Given the description of an element on the screen output the (x, y) to click on. 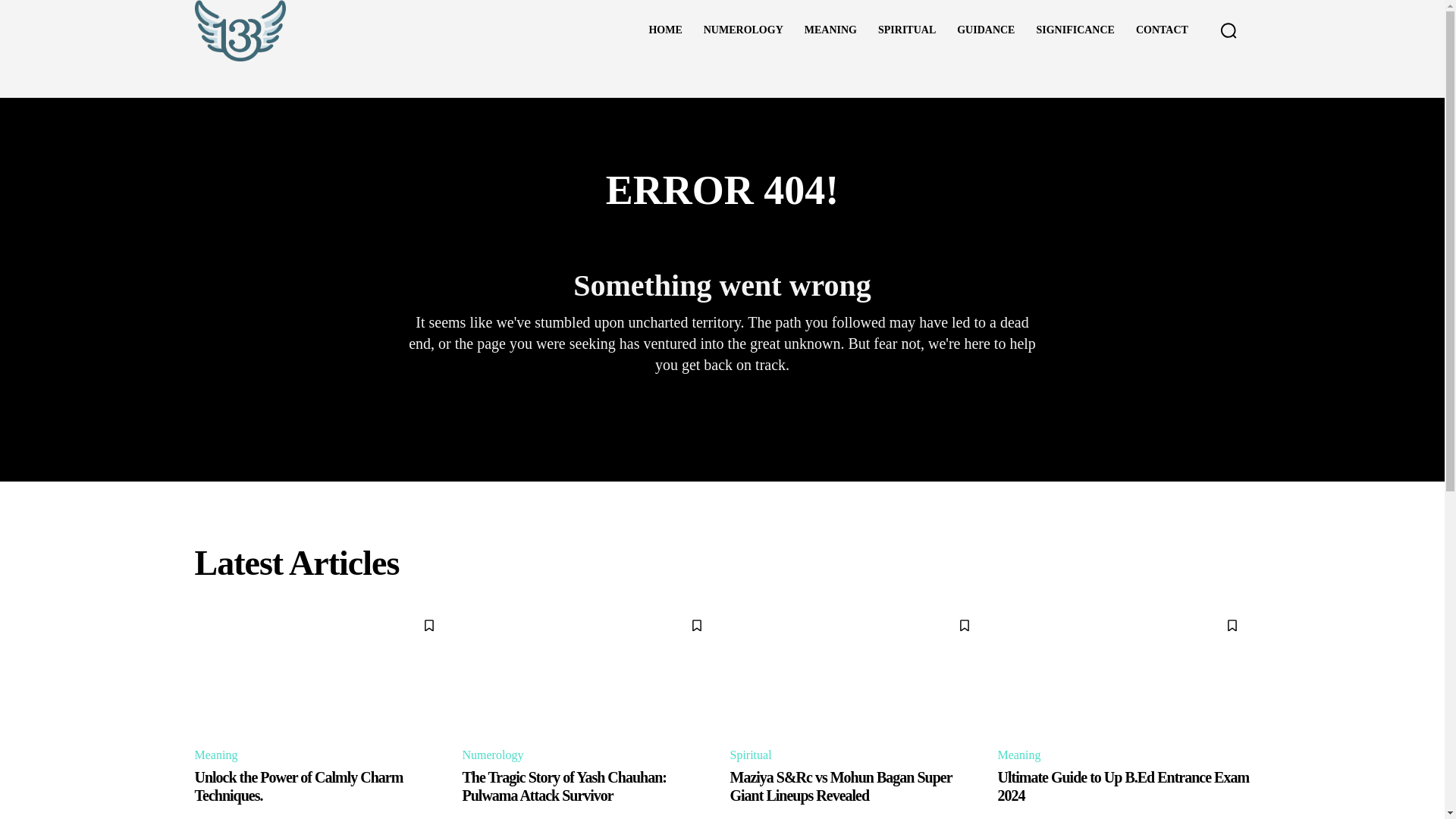
The Tragic Story of Yash Chauhan: Pulwama Attack Survivor (564, 786)
HOME (665, 30)
Meaning (1021, 755)
SPIRITUAL (906, 30)
Ultimate Guide to Up B.Ed Entrance Exam 2024 (1123, 786)
The Tragic Story of Yash Chauhan: Pulwama Attack Survivor (564, 786)
CONTACT (1161, 30)
NUMEROLOGY (743, 30)
Unlock the Power of Calmly Charm Techniques. (319, 670)
Ultimate Guide to Up B.Ed Entrance Exam 2024 (1123, 786)
The Tragic Story of Yash Chauhan: Pulwama Attack Survivor (588, 670)
Unlock the Power of Calmly Charm Techniques. (298, 786)
Numerology (495, 755)
MEANING (830, 30)
SIGNIFICANCE (1074, 30)
